Given the description of an element on the screen output the (x, y) to click on. 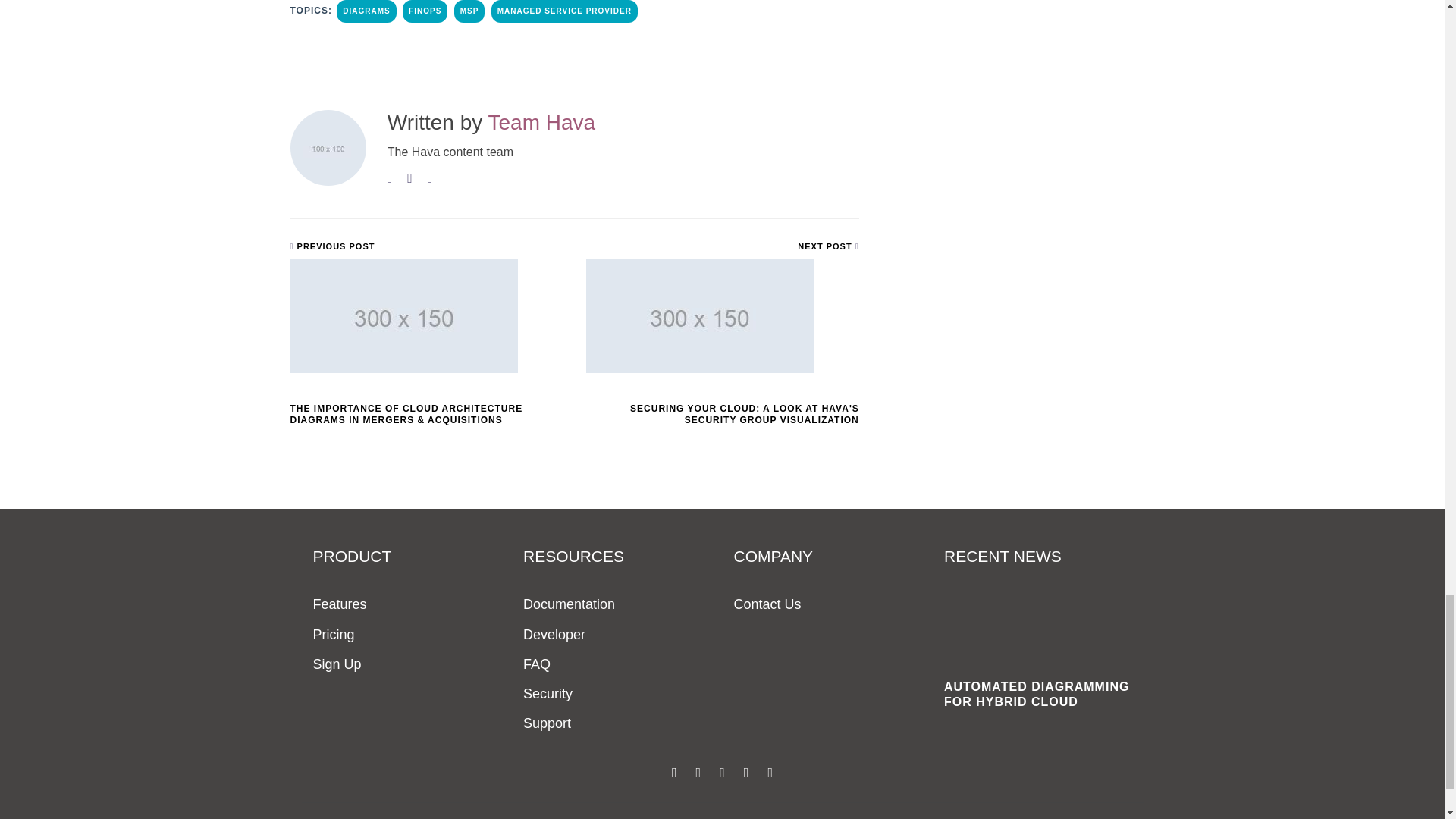
DIAGRAMS (366, 11)
MANAGED SERVICE PROVIDER (564, 11)
Sign Up (337, 664)
Security (547, 693)
MSP (469, 11)
Team Hava (541, 122)
Pricing (333, 634)
Documentation (568, 604)
NEXT POST (828, 245)
PREVIOUS POST (331, 245)
FINOPS (424, 11)
FAQ (536, 664)
Developer (553, 634)
Features (339, 604)
